Given the description of an element on the screen output the (x, y) to click on. 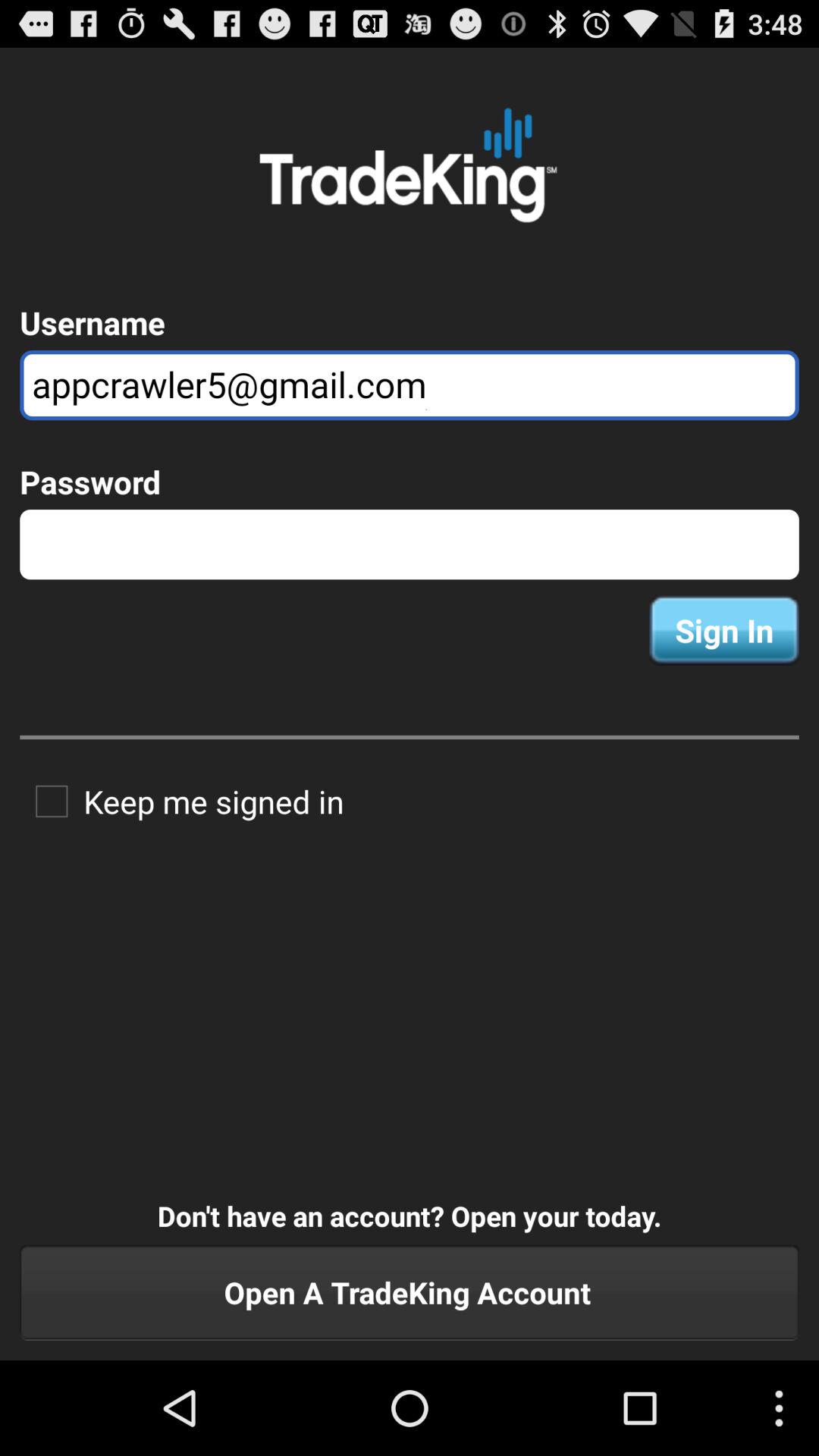
flip to sign in (724, 630)
